Given the description of an element on the screen output the (x, y) to click on. 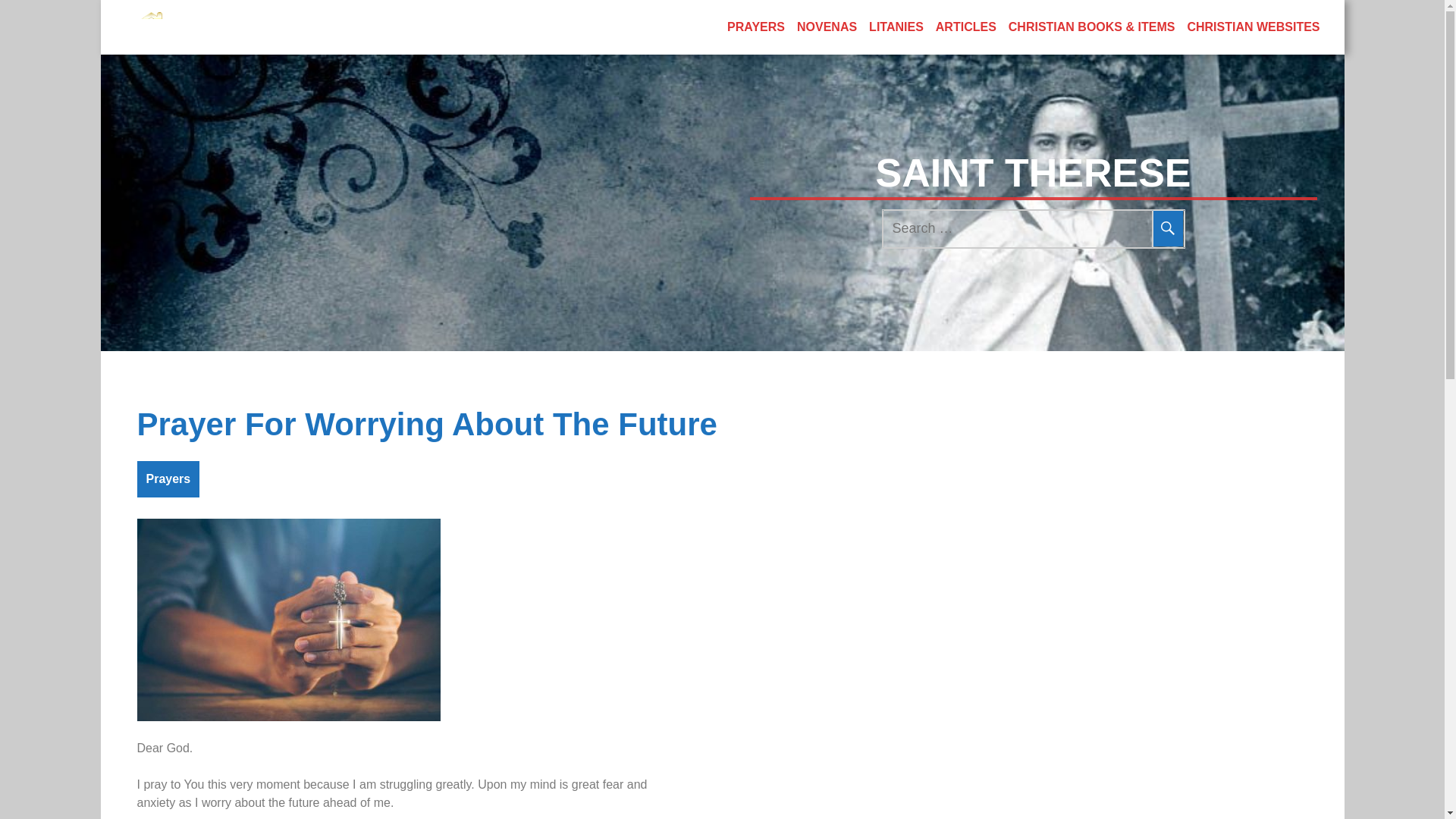
Saint Therese (150, 27)
LITANIES (896, 27)
PRAYERS (755, 27)
ARTICLES (966, 27)
SAINT THERESE (1033, 172)
NOVENAS (826, 27)
Prayers (167, 479)
CHRISTIAN WEBSITES (1252, 27)
